Given the description of an element on the screen output the (x, y) to click on. 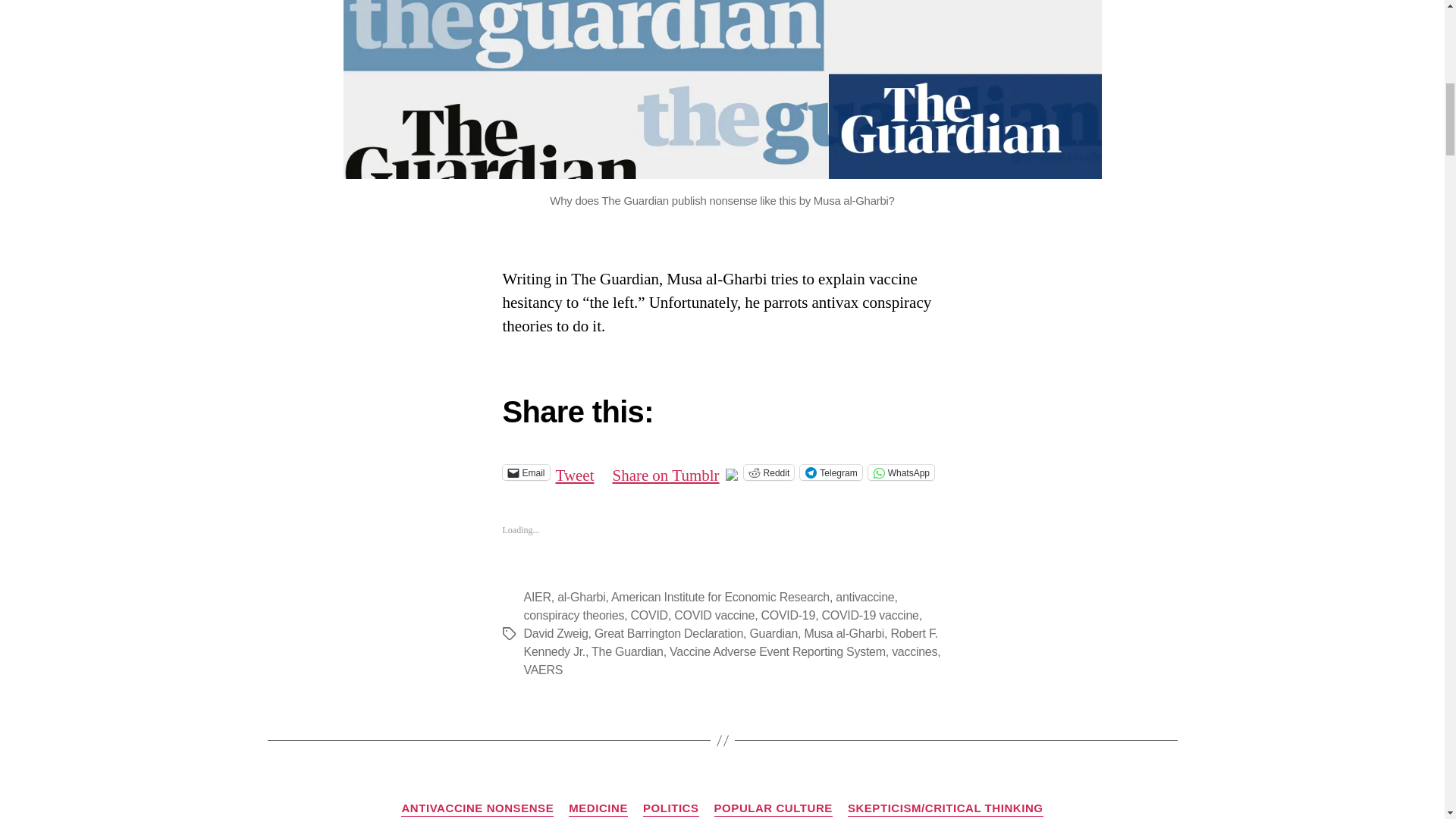
Click to share on WhatsApp (900, 472)
Telegram (830, 472)
Click to email a link to a friend (525, 472)
Reddit (769, 472)
Email (525, 472)
Tweet (575, 471)
Share on Tumblr (665, 471)
Click to share on Reddit (769, 472)
Share on Tumblr (665, 471)
Click to share on Telegram (830, 472)
WhatsApp (900, 472)
